Given the description of an element on the screen output the (x, y) to click on. 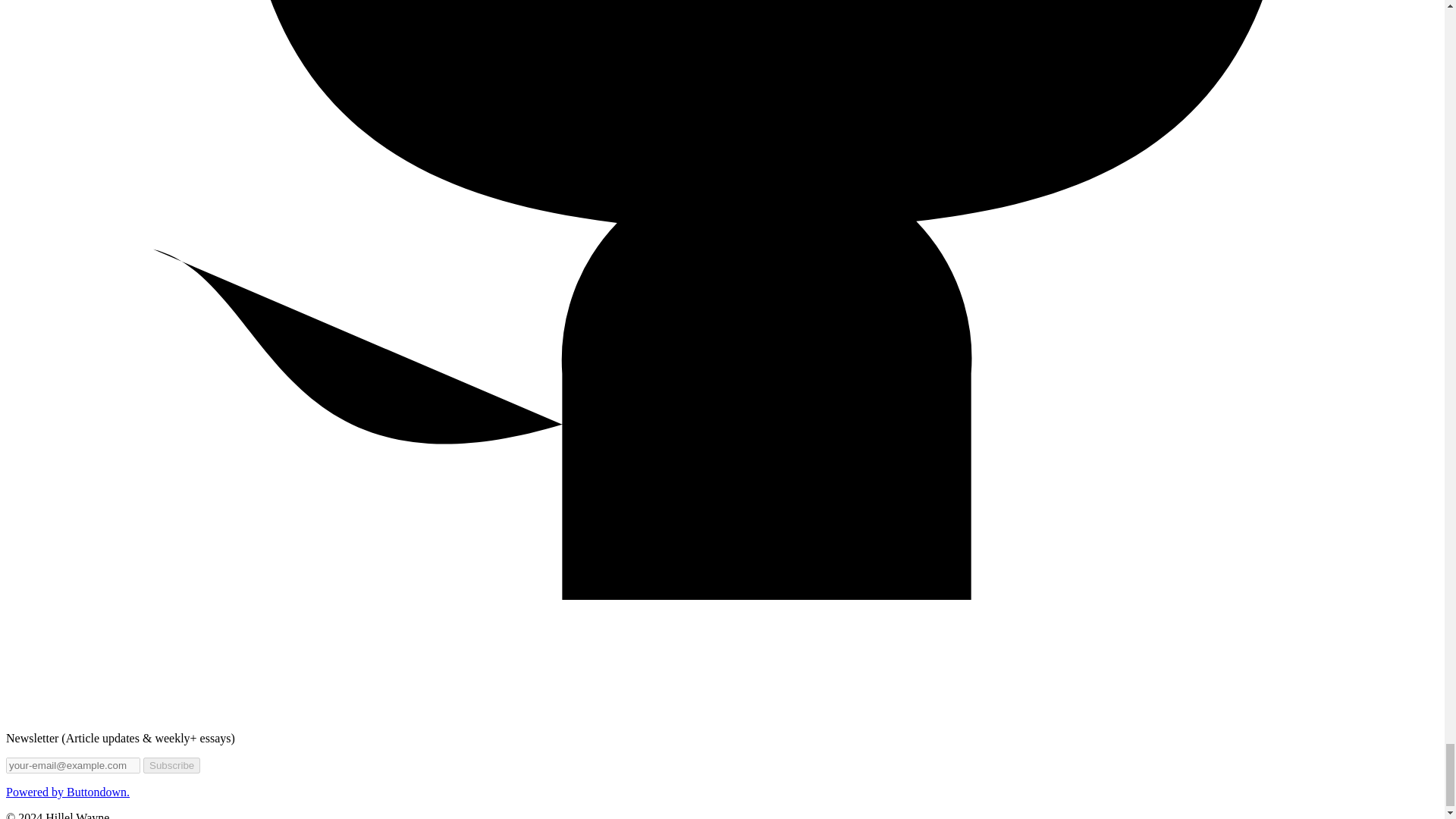
Subscribe (171, 765)
Subscribe (171, 765)
Powered by Buttondown. (67, 791)
